Given the description of an element on the screen output the (x, y) to click on. 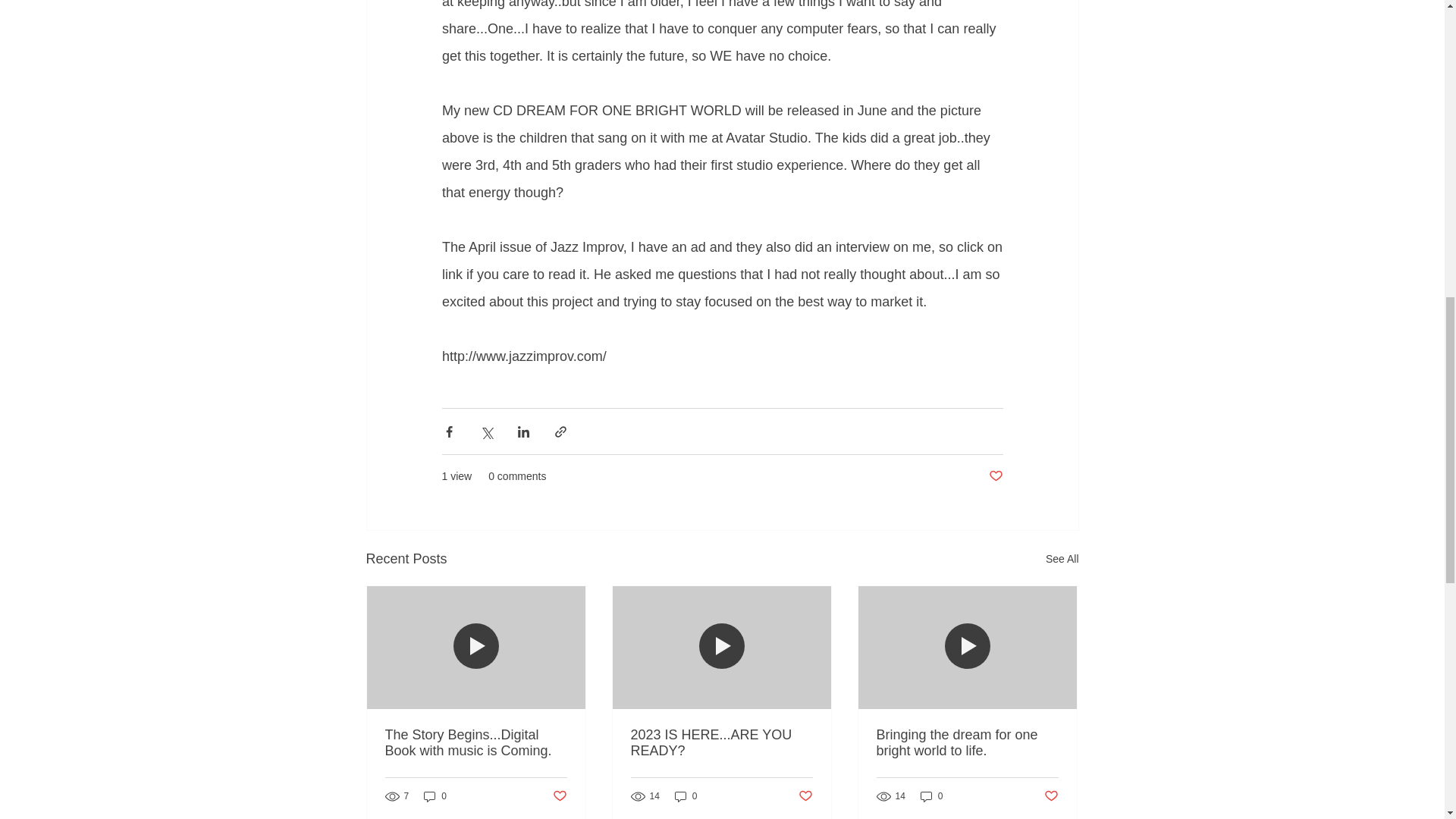
See All (1061, 558)
0 (435, 796)
The Story Begins...Digital Book with music is Coming. (476, 743)
Post not marked as liked (558, 796)
2023 IS HERE...ARE YOU READY? (721, 743)
Post not marked as liked (995, 476)
